Given the description of an element on the screen output the (x, y) to click on. 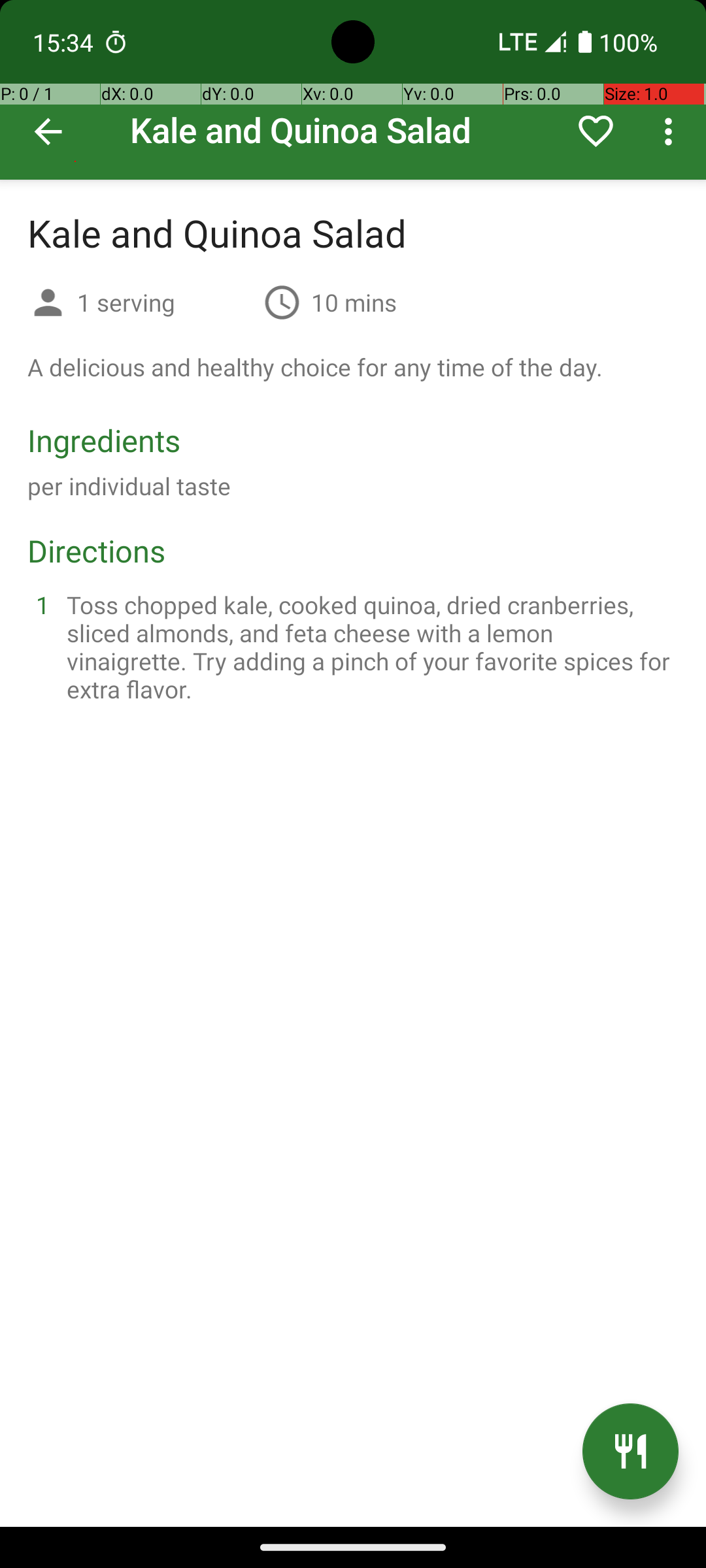
Toss chopped kale, cooked quinoa, dried cranberries, sliced almonds, and feta cheese with a lemon vinaigrette. Try adding a pinch of your favorite spices for extra flavor. Element type: android.widget.TextView (368, 646)
